Given the description of an element on the screen output the (x, y) to click on. 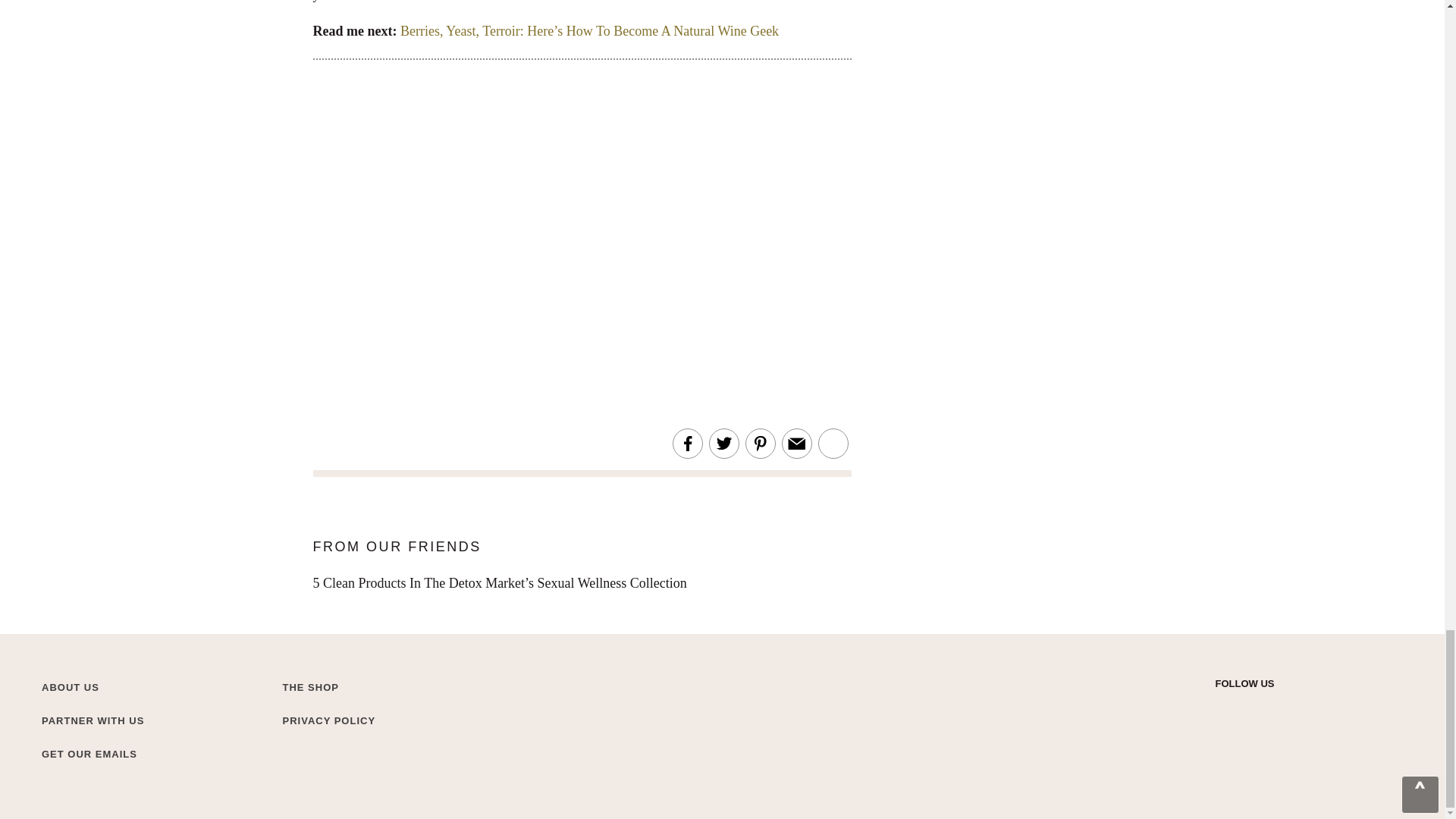
Instagram (1249, 708)
Share this article on Twitter (724, 443)
Pinterest (1302, 708)
Twitter (1222, 708)
Email this article (797, 443)
Share this article on Facebook (687, 443)
Facebook (1275, 708)
Share an image of this article on Pinterest (760, 443)
